Given the description of an element on the screen output the (x, y) to click on. 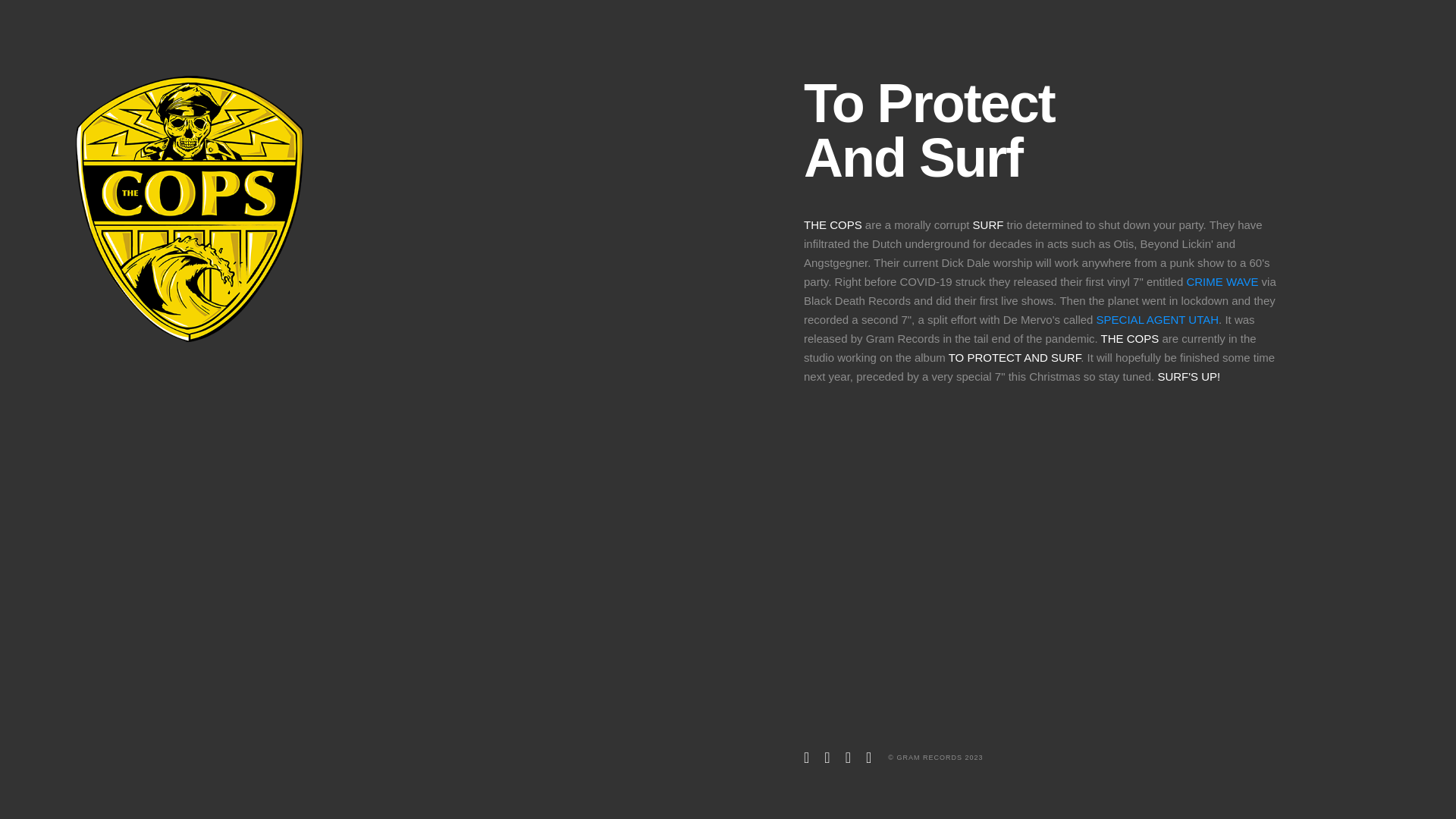
YouTube video player Element type: hover (1091, 561)
SPECIAL AGENT UTAH Element type: text (1157, 319)
CRIME WAVE Element type: text (1222, 281)
